Given the description of an element on the screen output the (x, y) to click on. 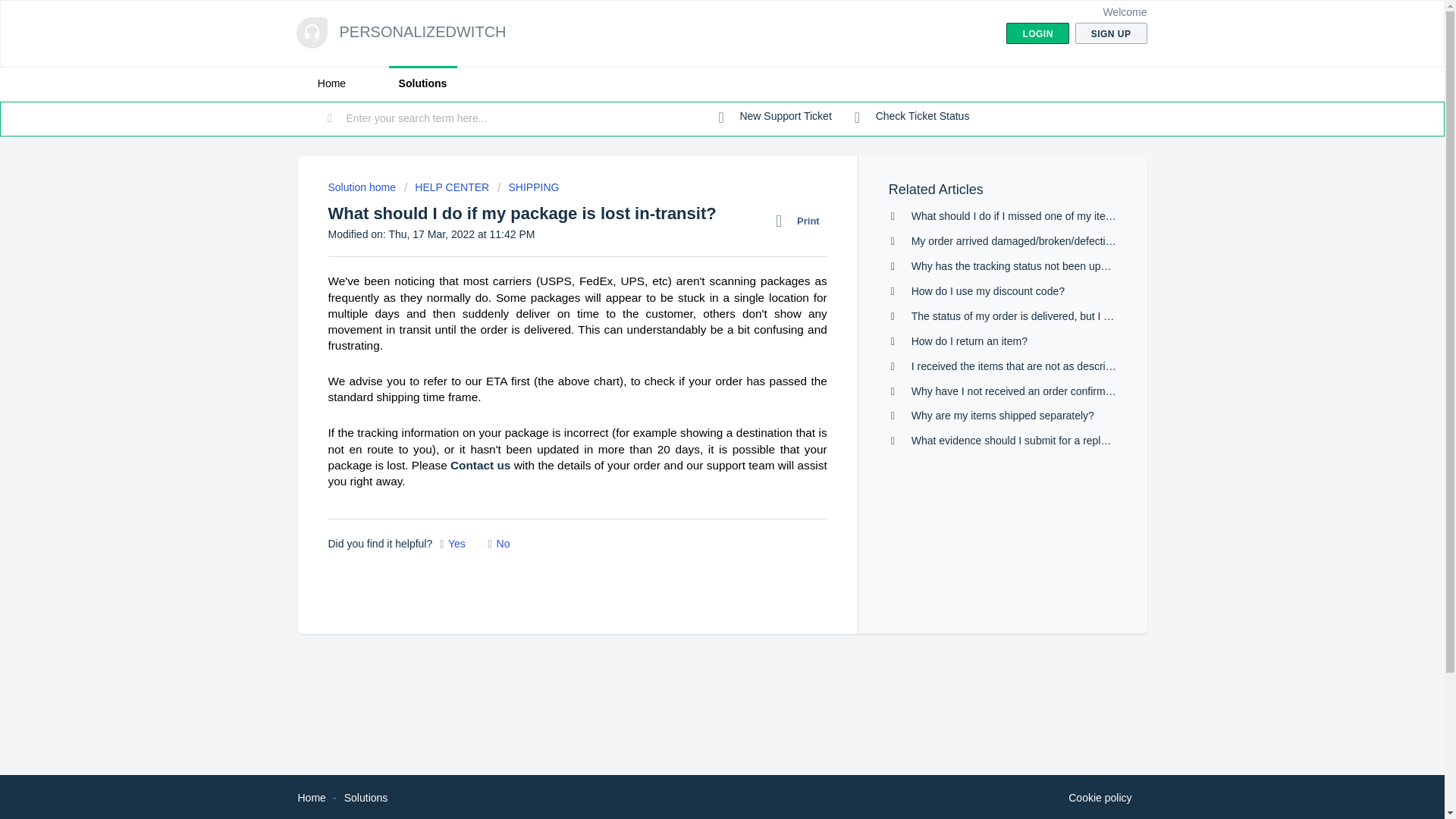
Why have I not received an order confirmation? (1022, 390)
How do I return an item? (969, 340)
Print (801, 220)
Why we love Cookies (1099, 798)
HELP CENTER (446, 186)
What evidence should I submit for a replacement? (1029, 440)
Print this Article (801, 220)
SHIPPING (528, 186)
Solutions (422, 83)
Check Ticket Status (911, 116)
New Support Ticket (775, 116)
What should I do if I missed one of my items? (1018, 215)
I received the items that are not as described (1016, 366)
Check ticket status (911, 116)
Contact us (480, 464)
